Given the description of an element on the screen output the (x, y) to click on. 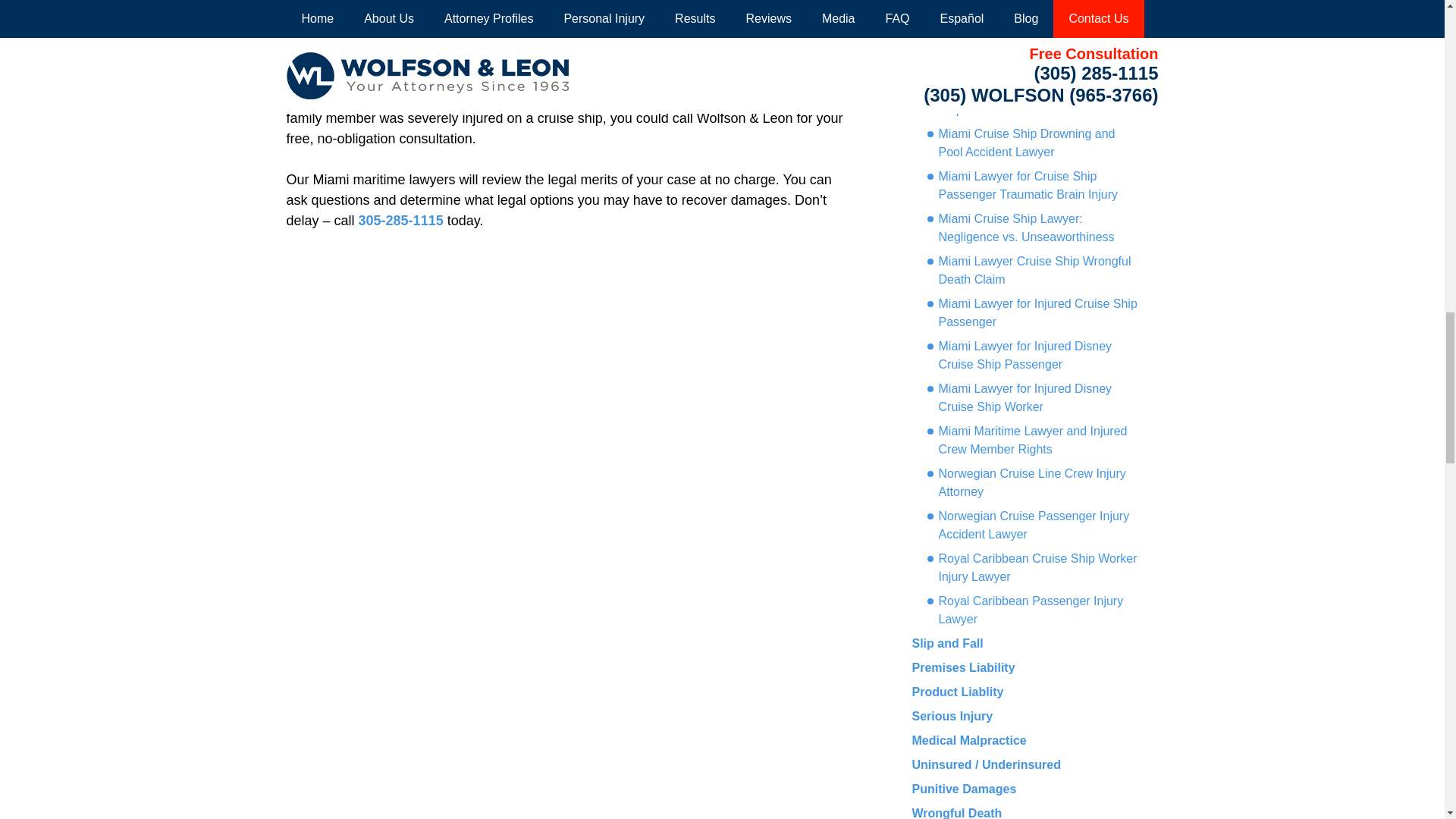
305-285-1115 (401, 220)
